Given the description of an element on the screen output the (x, y) to click on. 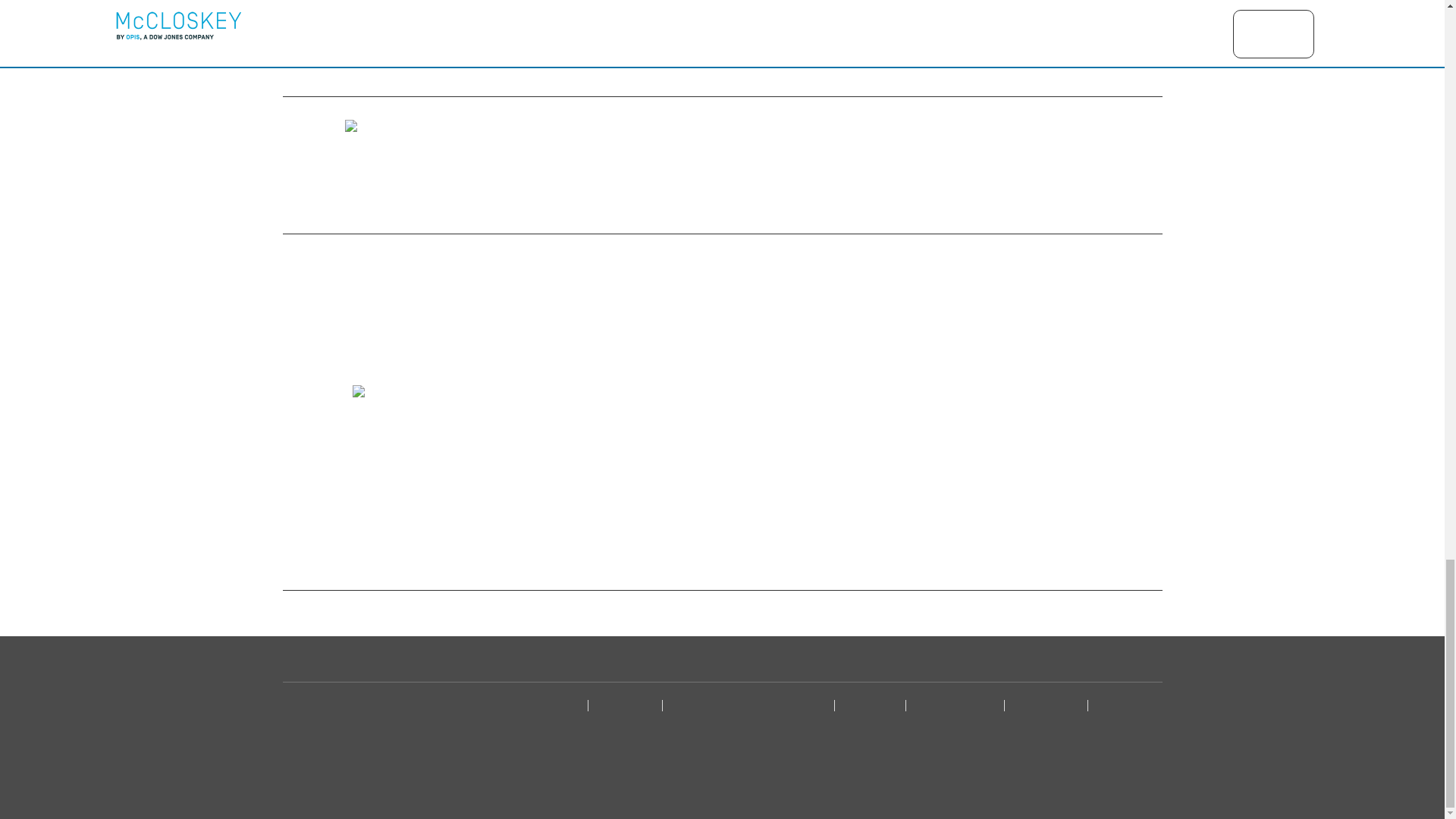
Terms of Use (872, 705)
imigroup.com (911, 201)
Modern Slavery Act Statement (1127, 716)
Privacy Notice (552, 705)
Copyright Policy (1049, 705)
Cookie Notice (627, 705)
Do Not Sell My Personal Information (750, 705)
